Given the description of an element on the screen output the (x, y) to click on. 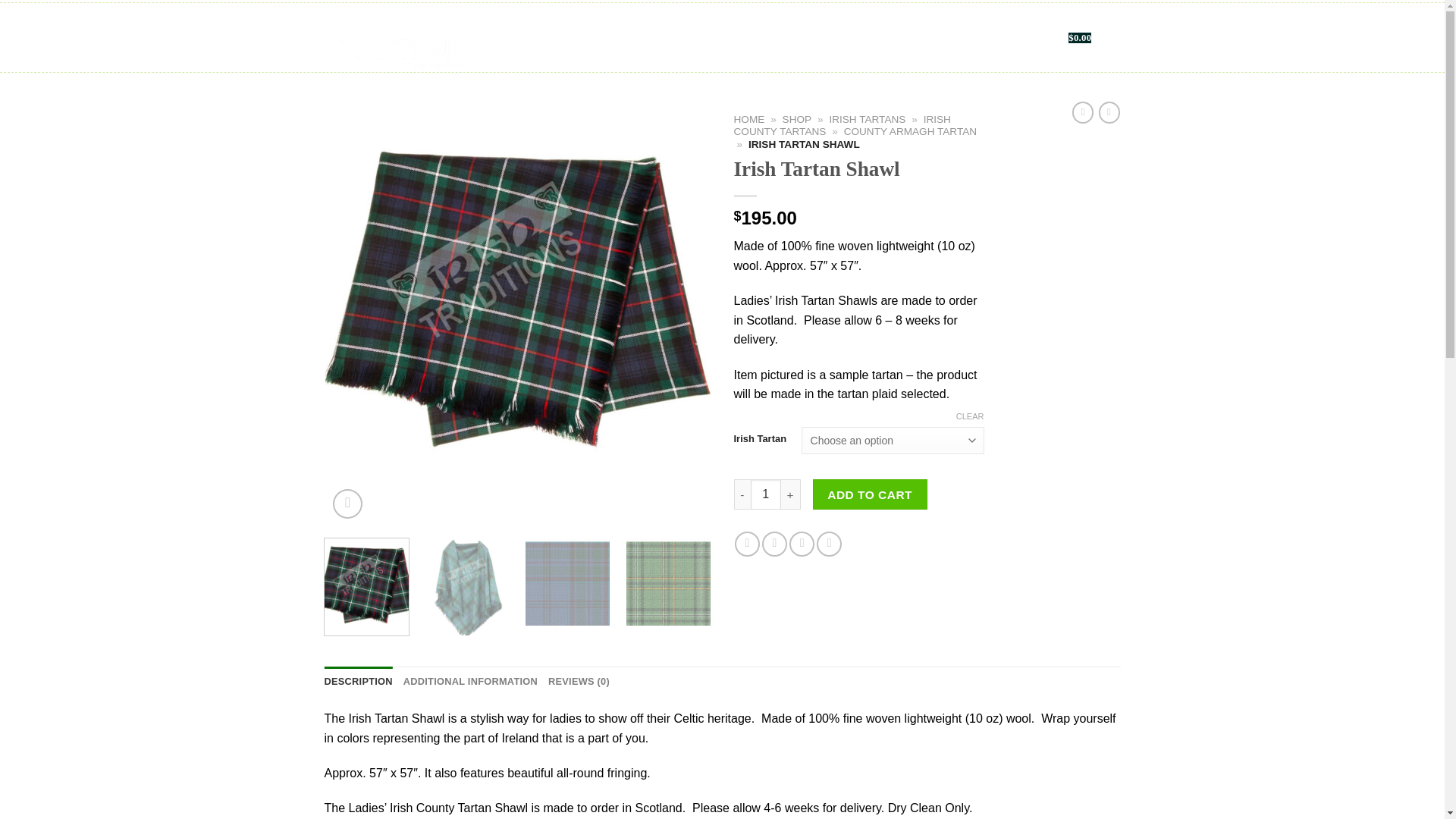
SHOP (531, 37)
Share on Twitter (774, 543)
ABOUT (577, 37)
Cart (1076, 37)
LINKS (832, 37)
Share on Facebook (747, 543)
LOGIN (993, 37)
Login (993, 37)
1 (765, 494)
Email to a Friend (801, 543)
